Given the description of an element on the screen output the (x, y) to click on. 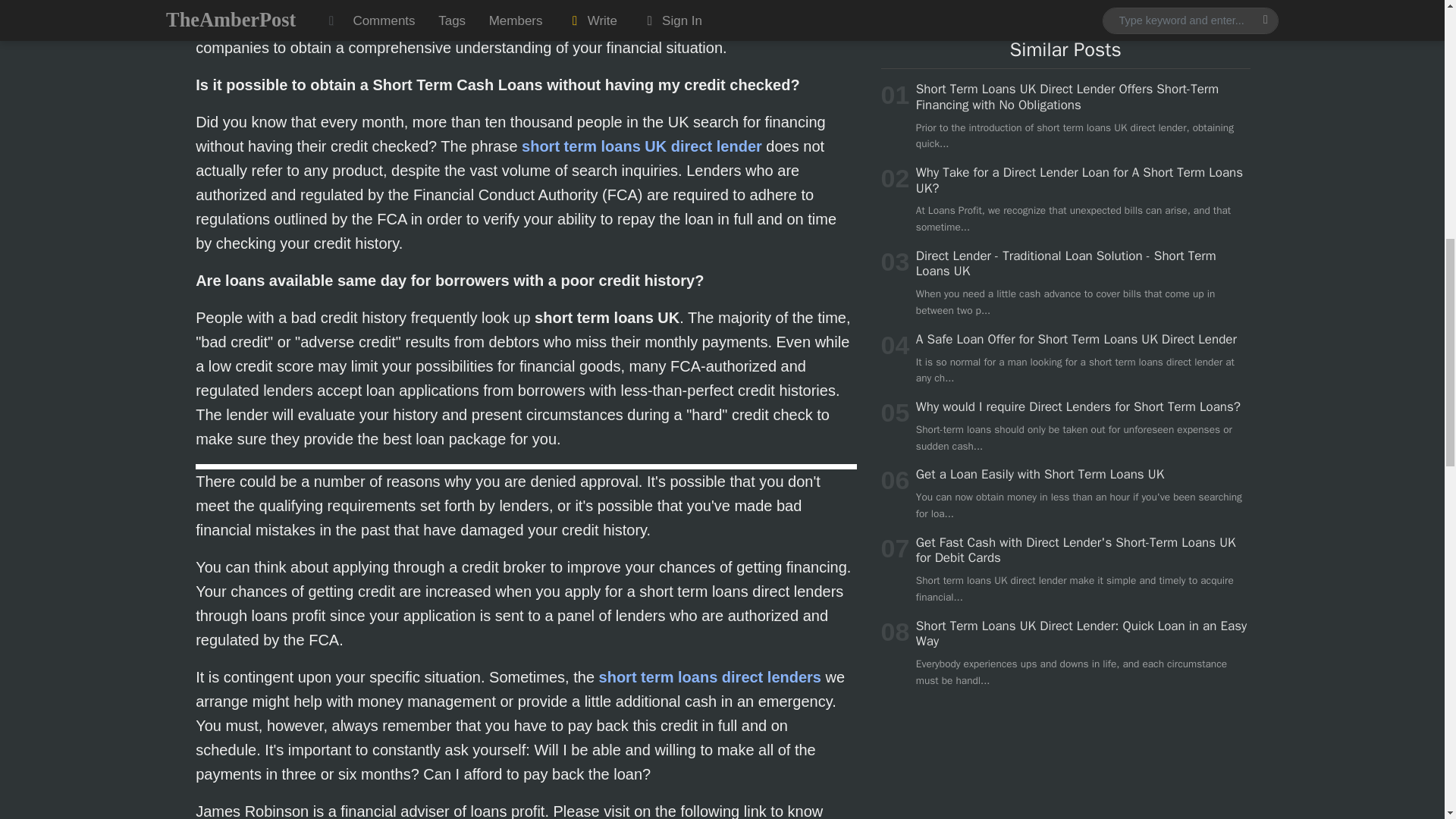
short term loans UK direct lender (641, 146)
short term loans direct lenders (709, 677)
